Given the description of an element on the screen output the (x, y) to click on. 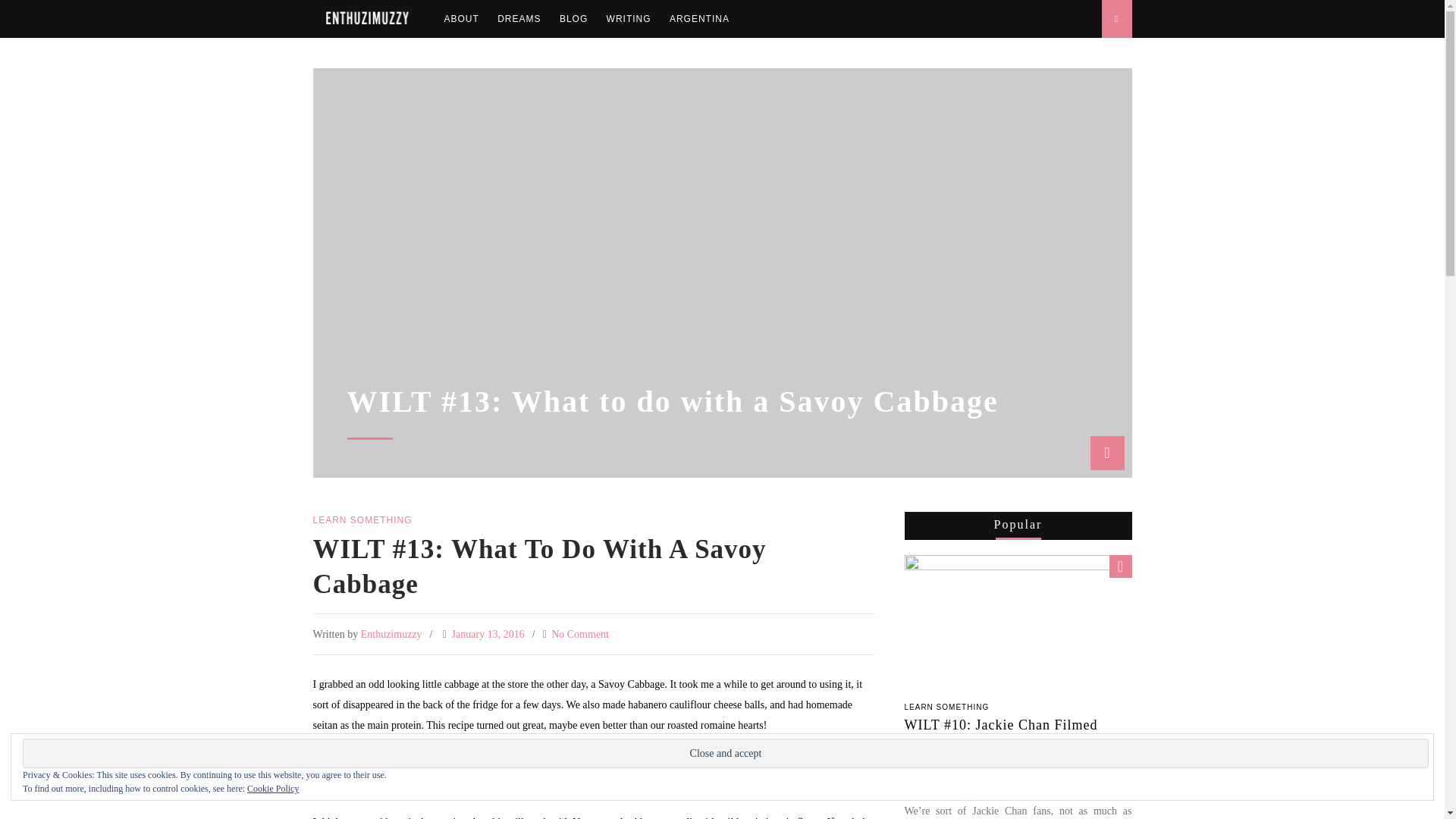
BLOG (573, 18)
LEARN SOMETHING (362, 519)
Close and accept (725, 753)
ARGENTINA (699, 18)
ABOUT (461, 18)
No Comment (579, 633)
January 13, 2016 (487, 633)
DREAMS (518, 18)
WRITING (628, 18)
LEARN SOMETHING (946, 706)
